Given the description of an element on the screen output the (x, y) to click on. 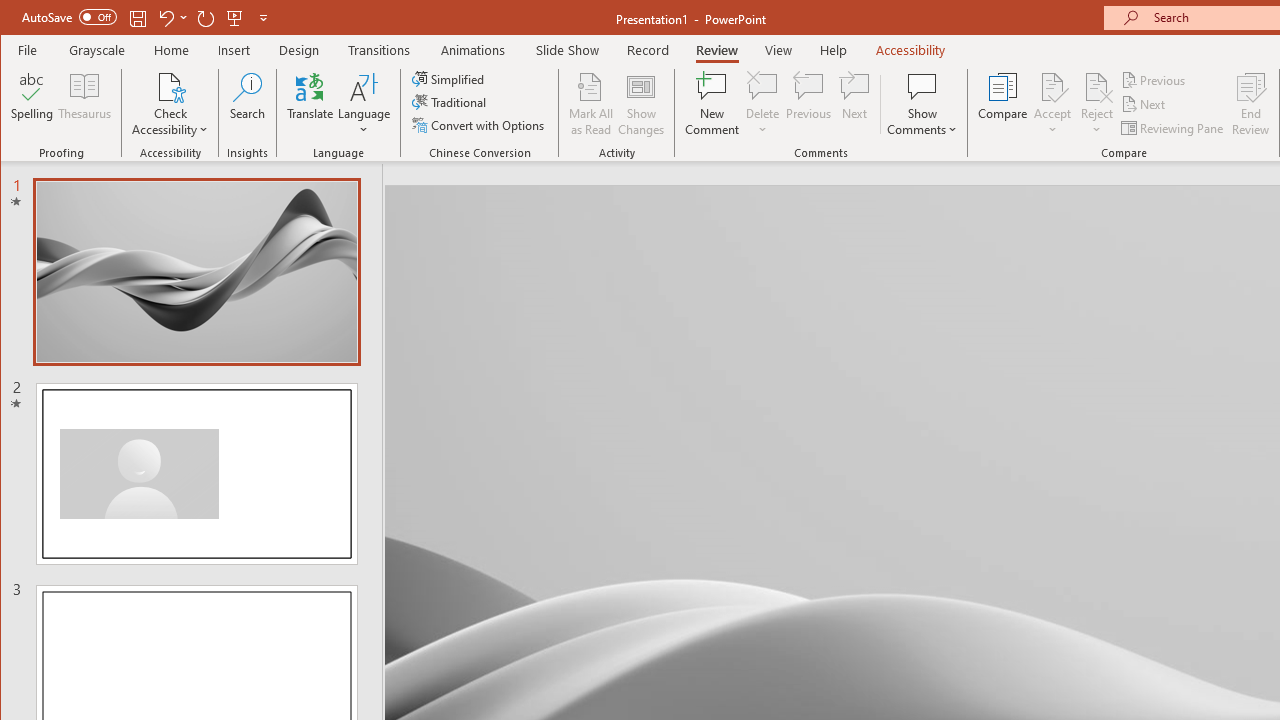
Reject (1096, 104)
Translate (310, 104)
Reject Change (1096, 86)
